Given the description of an element on the screen output the (x, y) to click on. 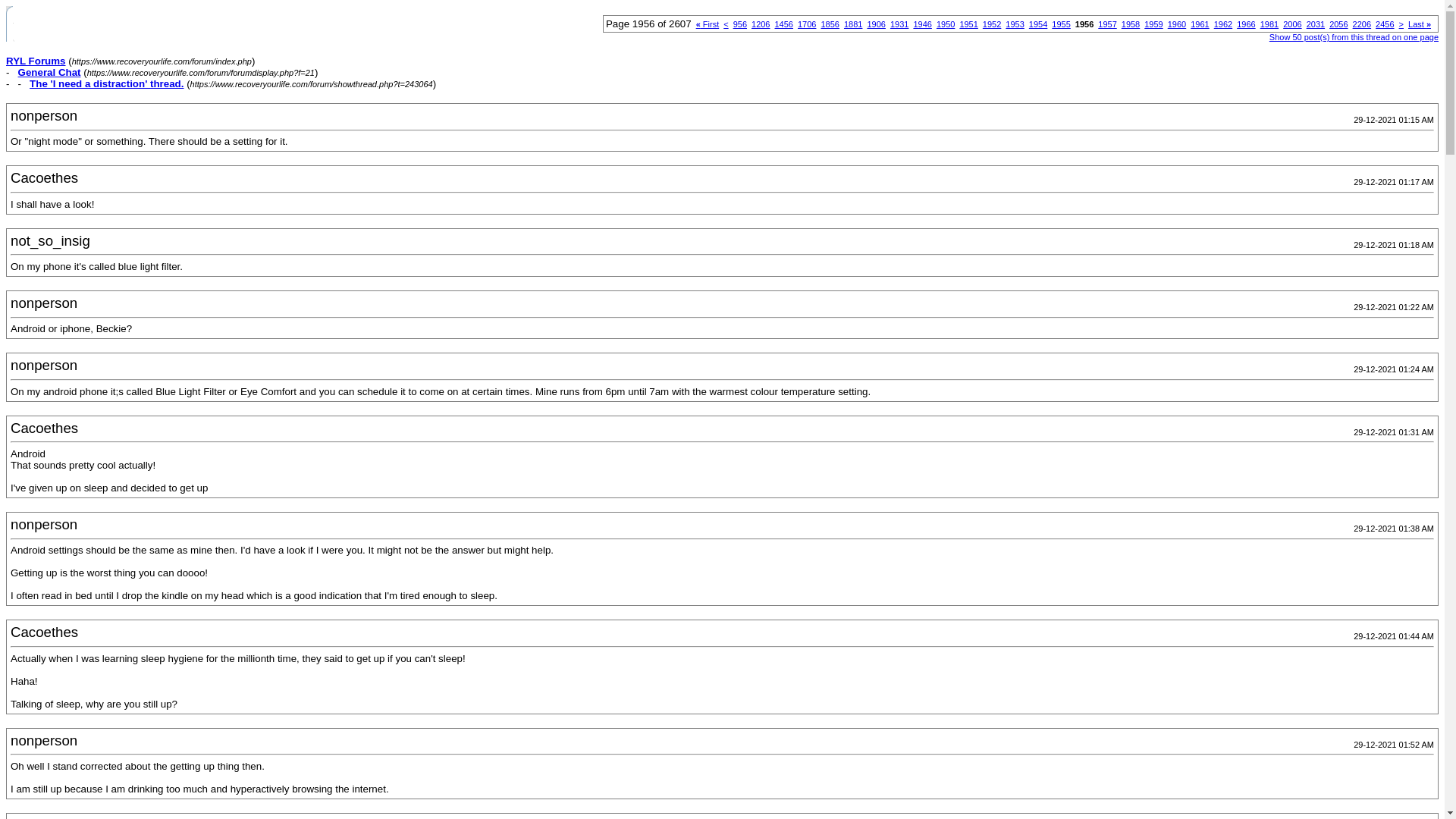
1959 (1152, 23)
First Page - Results 1 to 50 of 130,318 (707, 23)
Show results 97,851 to 97,900 of 130,318 (1130, 23)
Show results 92,751 to 92,800 of 130,318 (829, 23)
1957 (1106, 23)
1206 (760, 23)
Show results 60,251 to 60,300 of 130,318 (760, 23)
Show results 97,501 to 97,550 of 130,318 (967, 23)
1962 (1222, 23)
RYL Forums (35, 60)
